Given the description of an element on the screen output the (x, y) to click on. 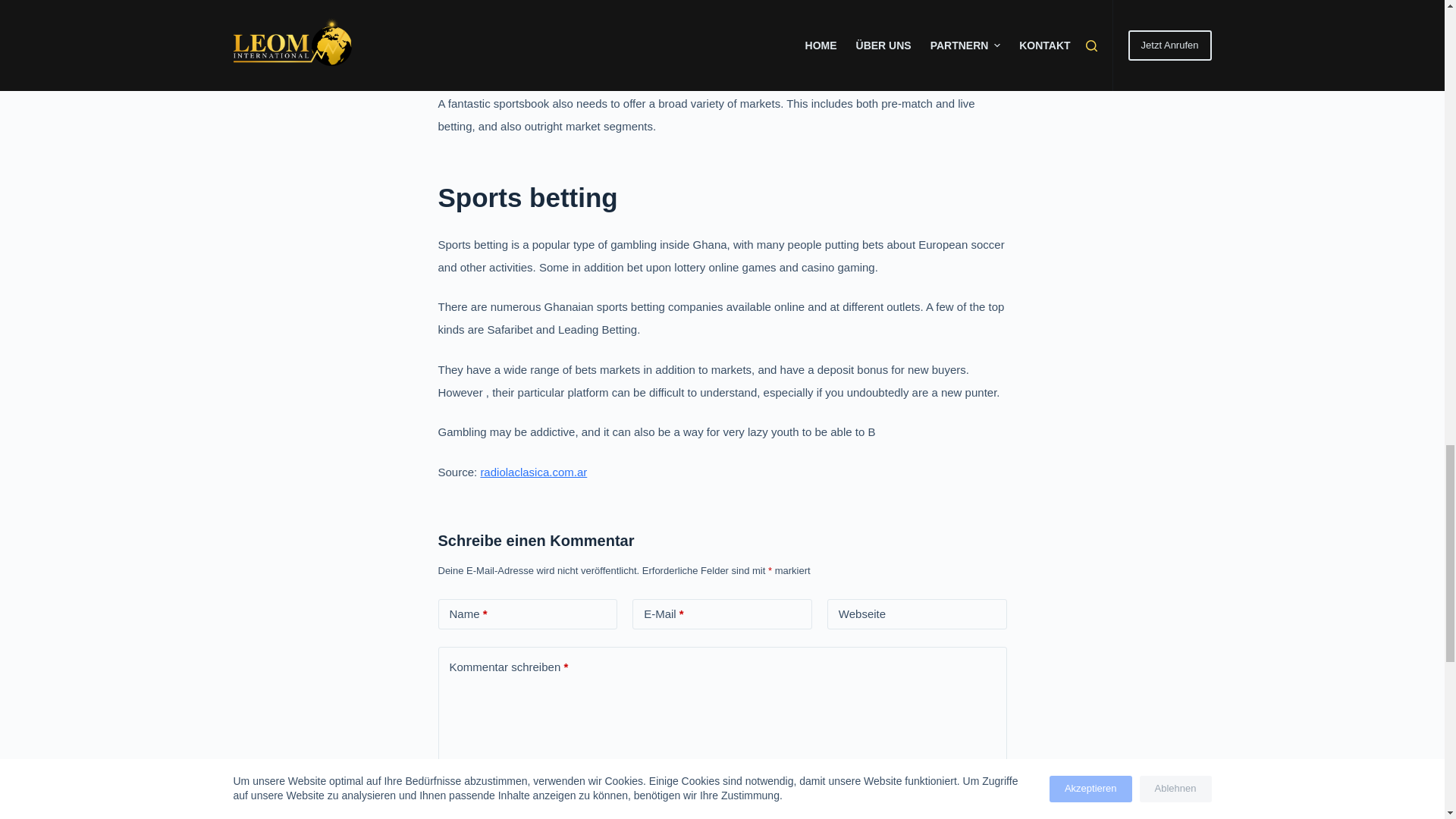
yes (443, 803)
